Given the description of an element on the screen output the (x, y) to click on. 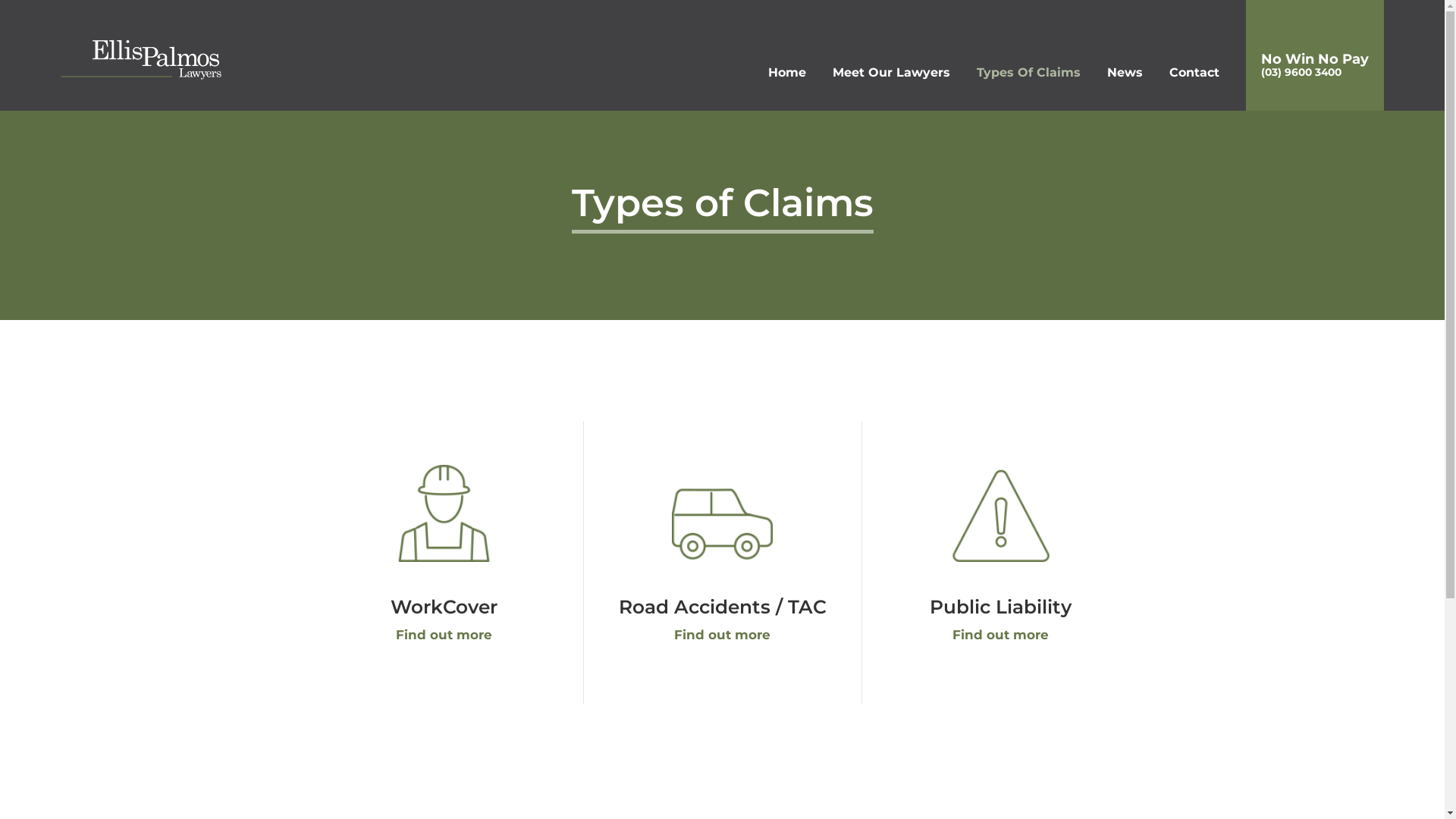
Types Of Claims Element type: text (1028, 74)
News Element type: text (1124, 74)
Contact Element type: text (1194, 74)
WorkCover
Find out more Element type: text (443, 558)
Road Accidents / TAC
Find out more Element type: text (722, 558)
Home Element type: text (787, 74)
Public Liability
Find out more Element type: text (1000, 558)
Meet Our Lawyers Element type: text (891, 74)
No Win No Pay
(03) 9600 3400 Element type: text (1314, 55)
